Given the description of an element on the screen output the (x, y) to click on. 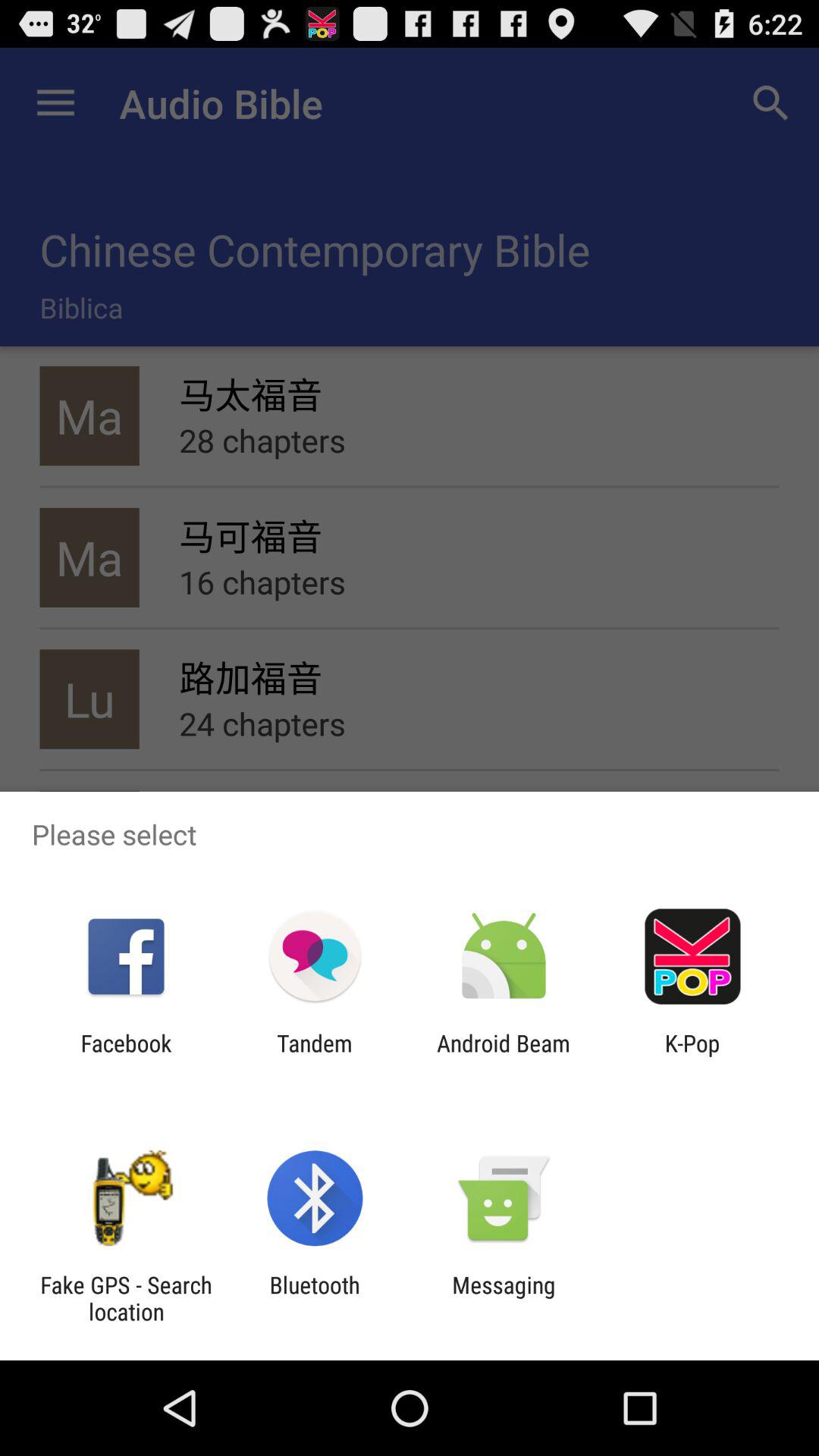
flip until the fake gps search (125, 1298)
